Given the description of an element on the screen output the (x, y) to click on. 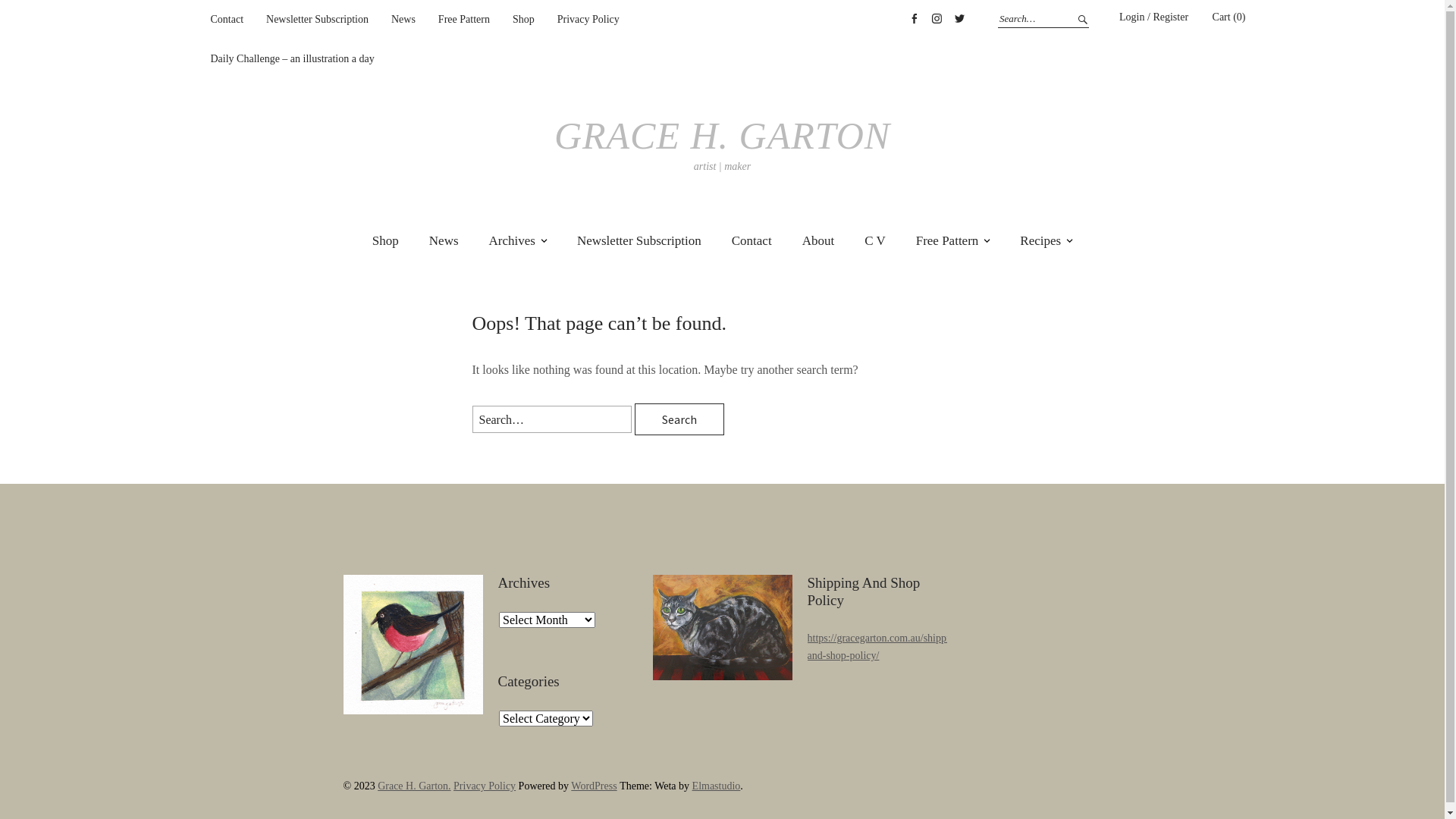
Search Element type: text (1080, 18)
News Element type: text (403, 19)
Newsletter Subscription Element type: text (639, 240)
Free Pattern Element type: text (953, 240)
Shop Element type: text (385, 240)
WordPress Element type: text (593, 785)
Newsletter Subscription Element type: text (317, 19)
C V Element type: text (874, 240)
Elmastudio Element type: text (716, 785)
Free Pattern Element type: text (463, 19)
Facebook Element type: text (913, 18)
Contact Element type: text (227, 19)
Contact Element type: text (751, 240)
https://gracegarton.com.au/shipping-and-shop-policy/ Element type: text (884, 646)
Instagram Element type: text (936, 18)
Archives Element type: text (517, 240)
Cart (0) Element type: text (1228, 17)
Privacy Policy Element type: text (484, 785)
Privacy Policy Element type: text (588, 19)
GRACE H. GARTON Element type: text (722, 135)
News Element type: text (443, 240)
Grace H. Garton. Element type: text (413, 785)
Login / Register Element type: text (1153, 17)
Shop Element type: text (523, 19)
Recipes Element type: text (1045, 240)
X Element type: text (958, 18)
Search Element type: text (678, 419)
About Element type: text (818, 240)
